Given the description of an element on the screen output the (x, y) to click on. 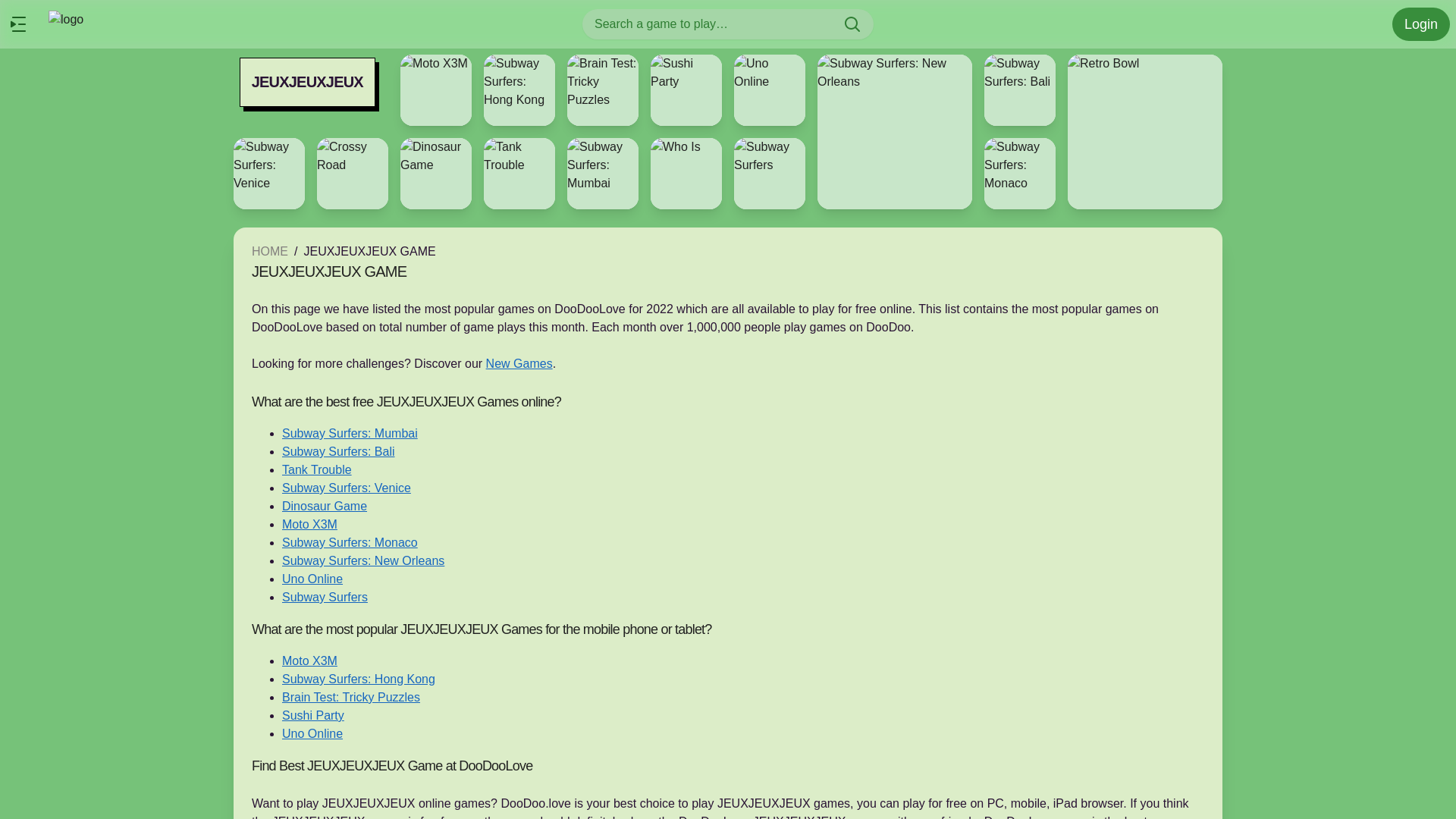
Login (1420, 23)
